Given the description of an element on the screen output the (x, y) to click on. 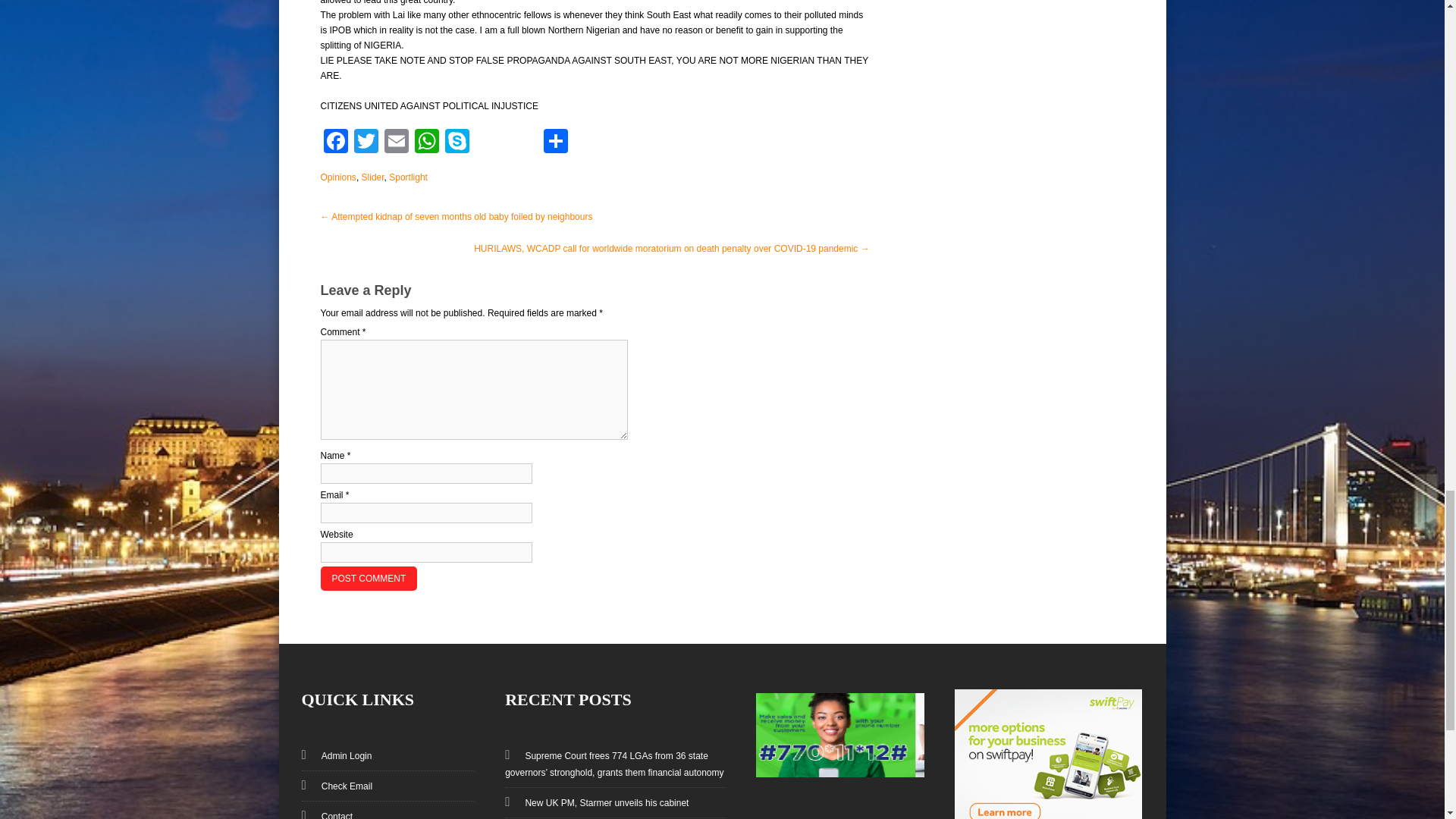
Opinions (337, 176)
WhatsApp (425, 142)
Admin Login (338, 756)
Sportlight (408, 176)
WhatsApp (425, 142)
Facebook (335, 142)
Skype (456, 142)
Contact (328, 815)
Check Email (338, 786)
View all posts in Sportlight (408, 176)
Skype (456, 142)
Twitter (365, 142)
Slider (372, 176)
View all posts in Slider (372, 176)
View all posts in Opinions (337, 176)
